Given the description of an element on the screen output the (x, y) to click on. 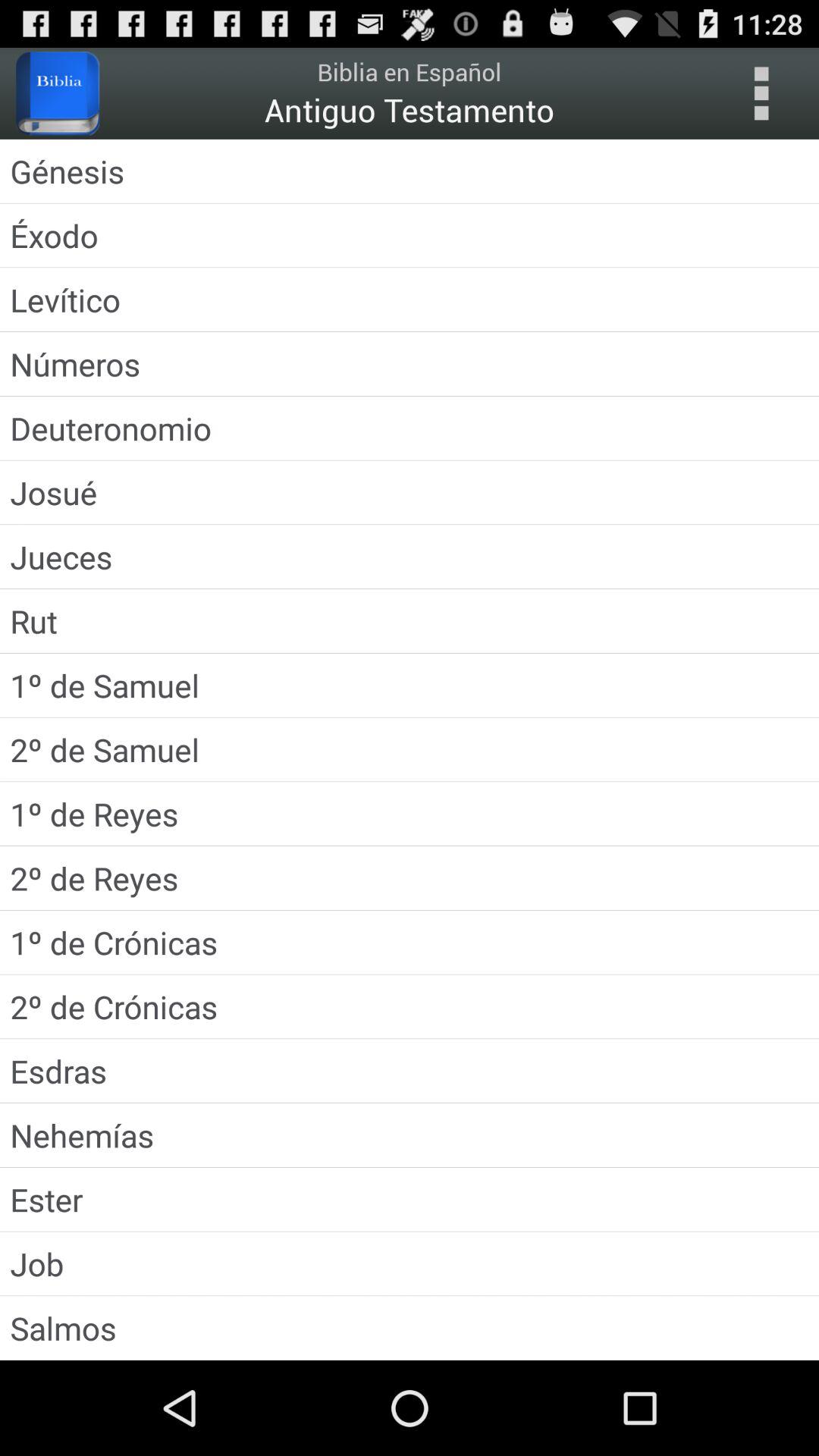
scroll to salmos (409, 1327)
